Given the description of an element on the screen output the (x, y) to click on. 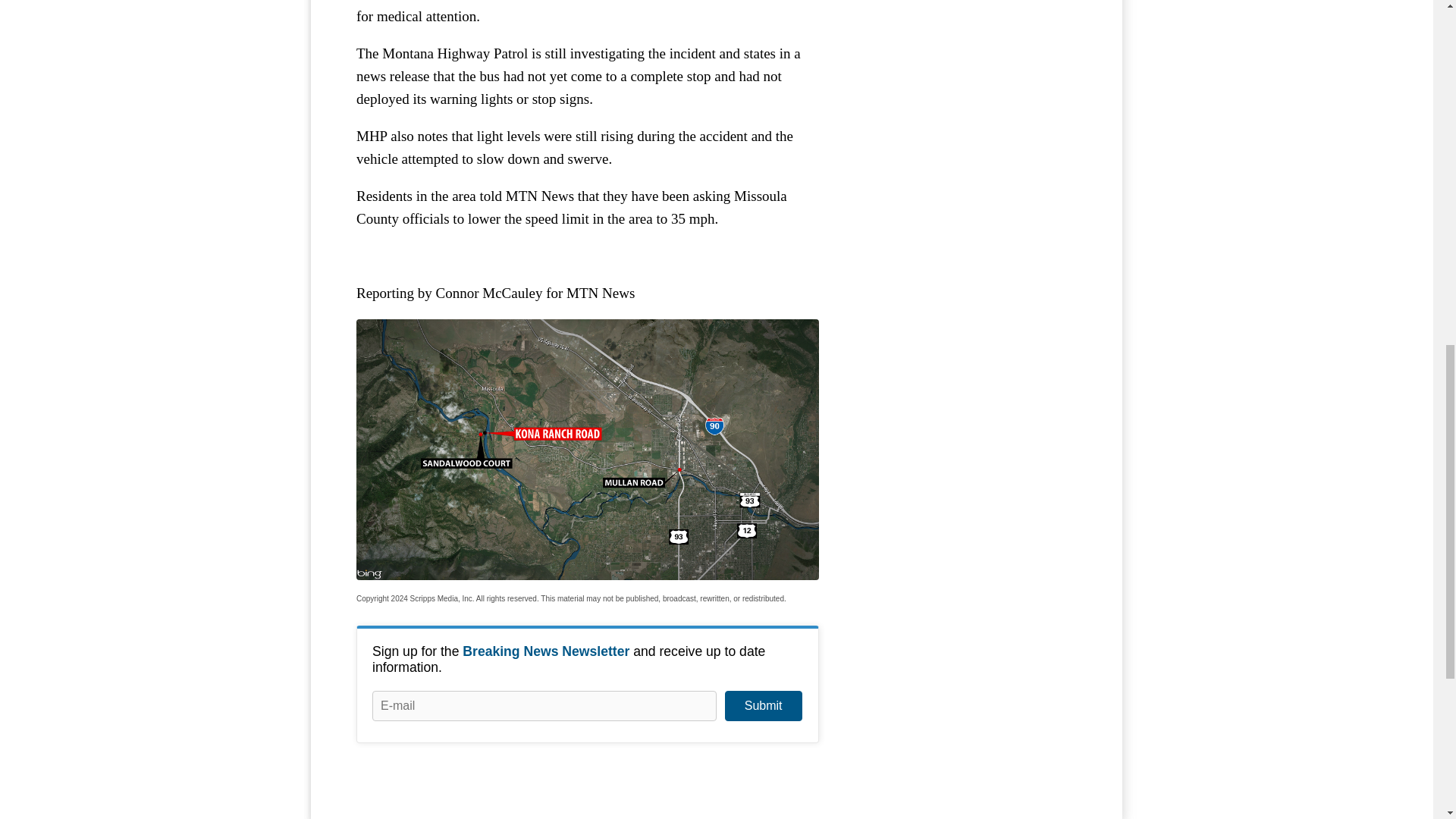
Submit (763, 706)
